Given the description of an element on the screen output the (x, y) to click on. 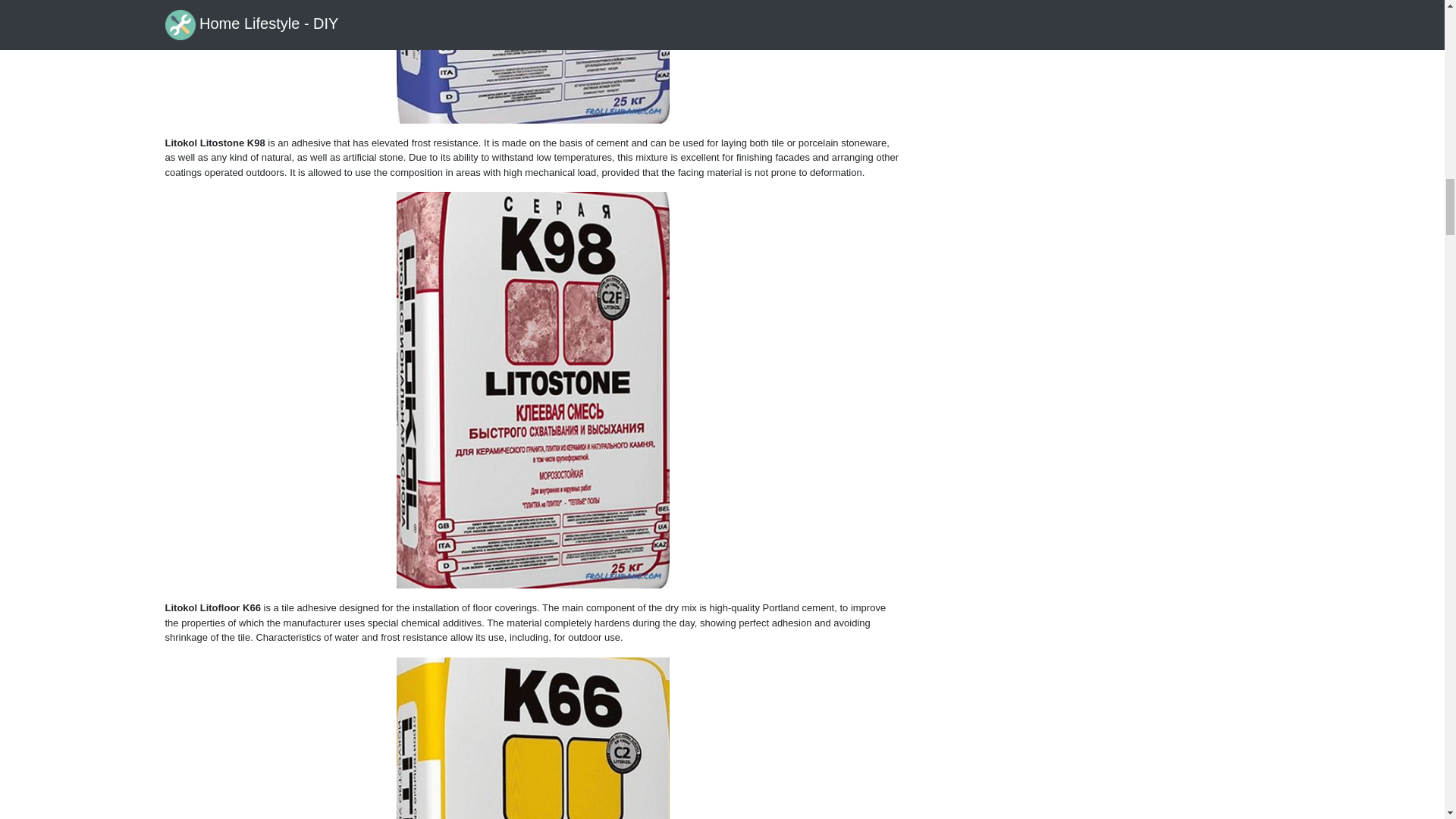
Glue for porcelain tiles - which one is better to choose (532, 61)
Glue for porcelain tiles - which one is better to choose (532, 738)
